Given the description of an element on the screen output the (x, y) to click on. 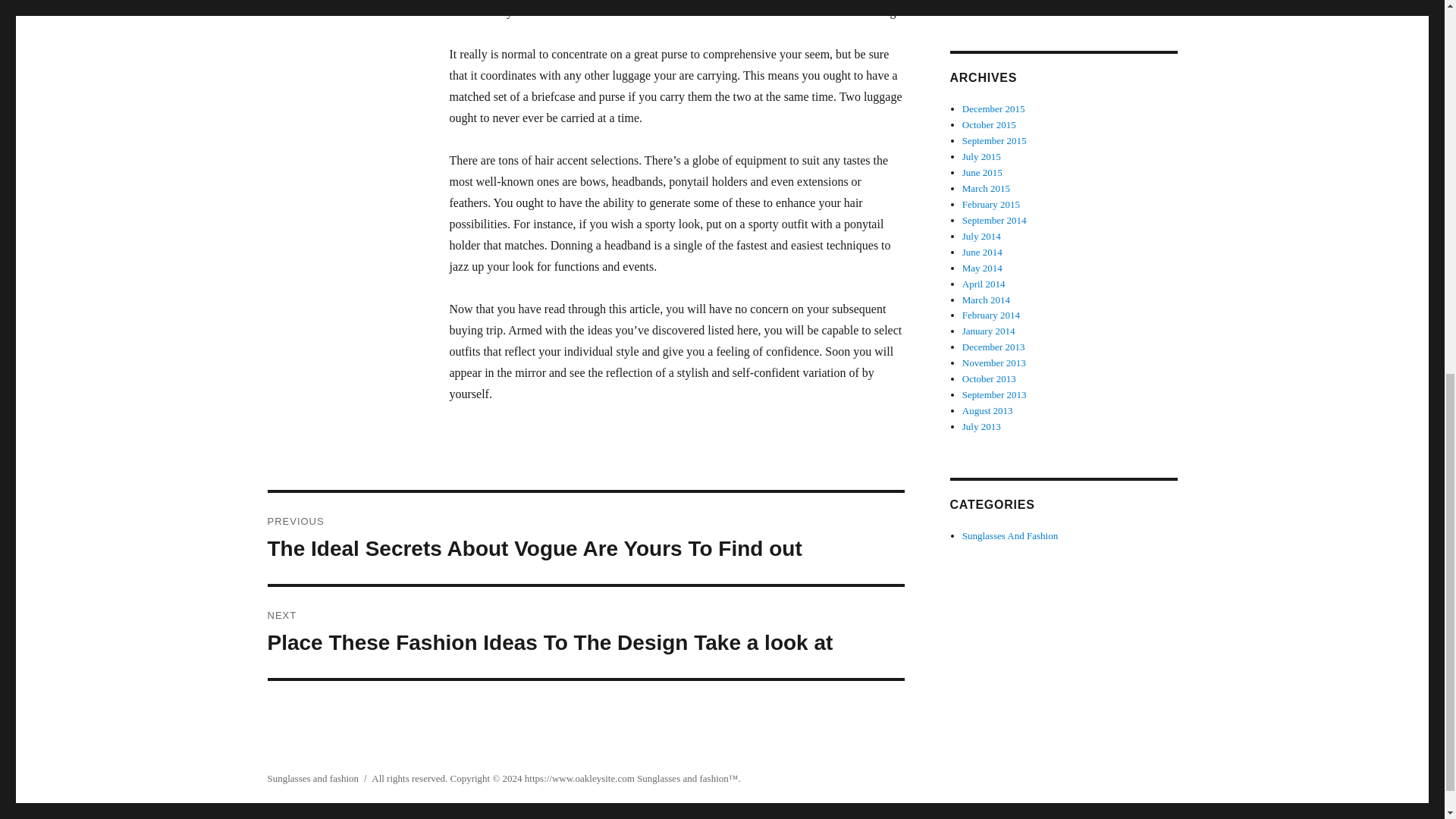
December 2015 (993, 108)
October 2015 (989, 124)
July 2015 (981, 156)
September 2015 (994, 140)
June 2015 (982, 172)
September 2013 (994, 394)
May 2014 (982, 267)
June 2014 (982, 251)
July 2014 (981, 235)
